Given the description of an element on the screen output the (x, y) to click on. 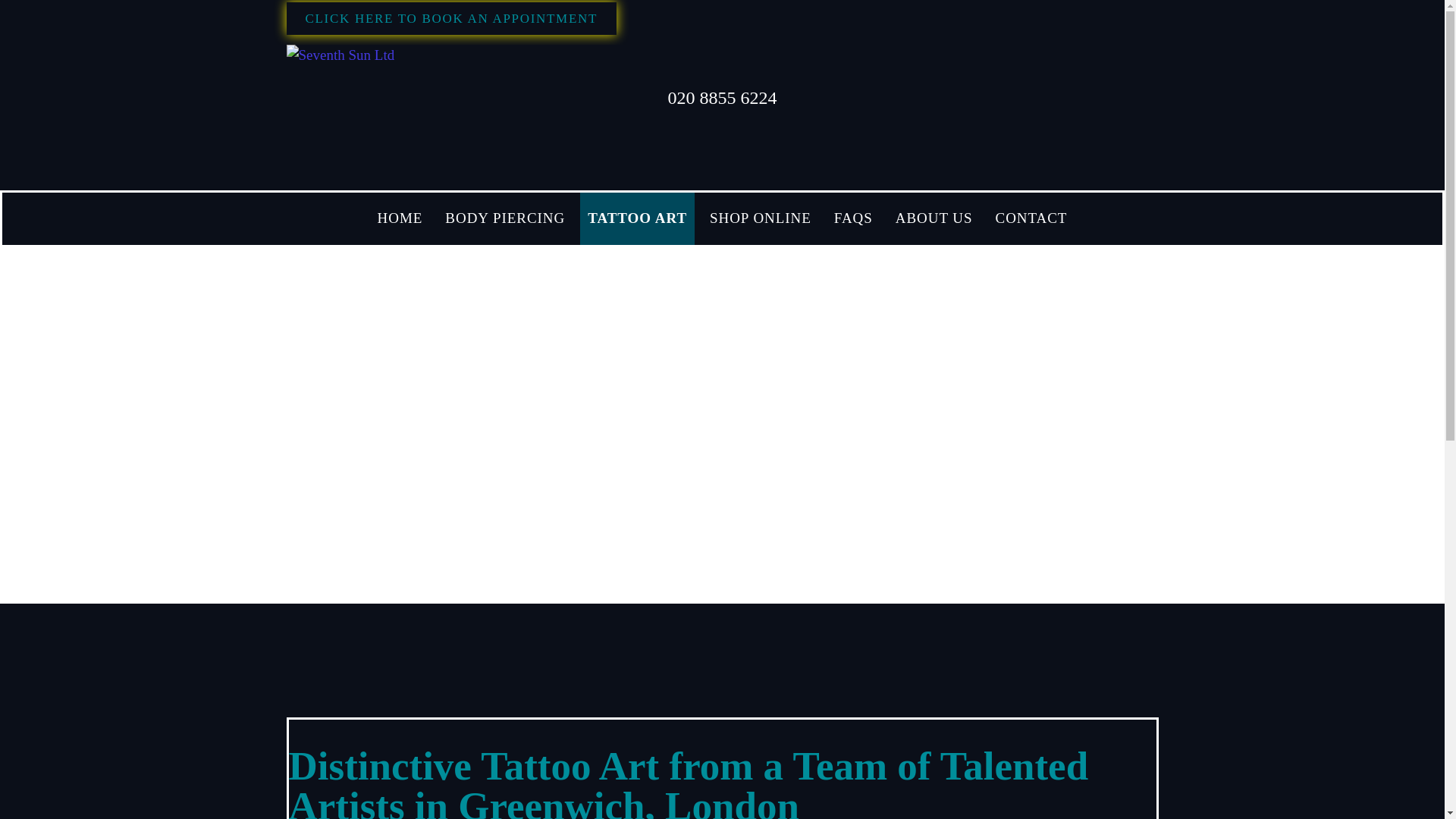
FAQS (853, 218)
SHOP ONLINE (759, 218)
CONTACT (1031, 218)
020 8855 6224 (721, 97)
CLICK HERE TO BOOK AN APPOINTMENT (451, 18)
HOME (399, 218)
BODY PIERCING (505, 218)
ABOUT US (933, 218)
TATTOO ART (636, 218)
